Given the description of an element on the screen output the (x, y) to click on. 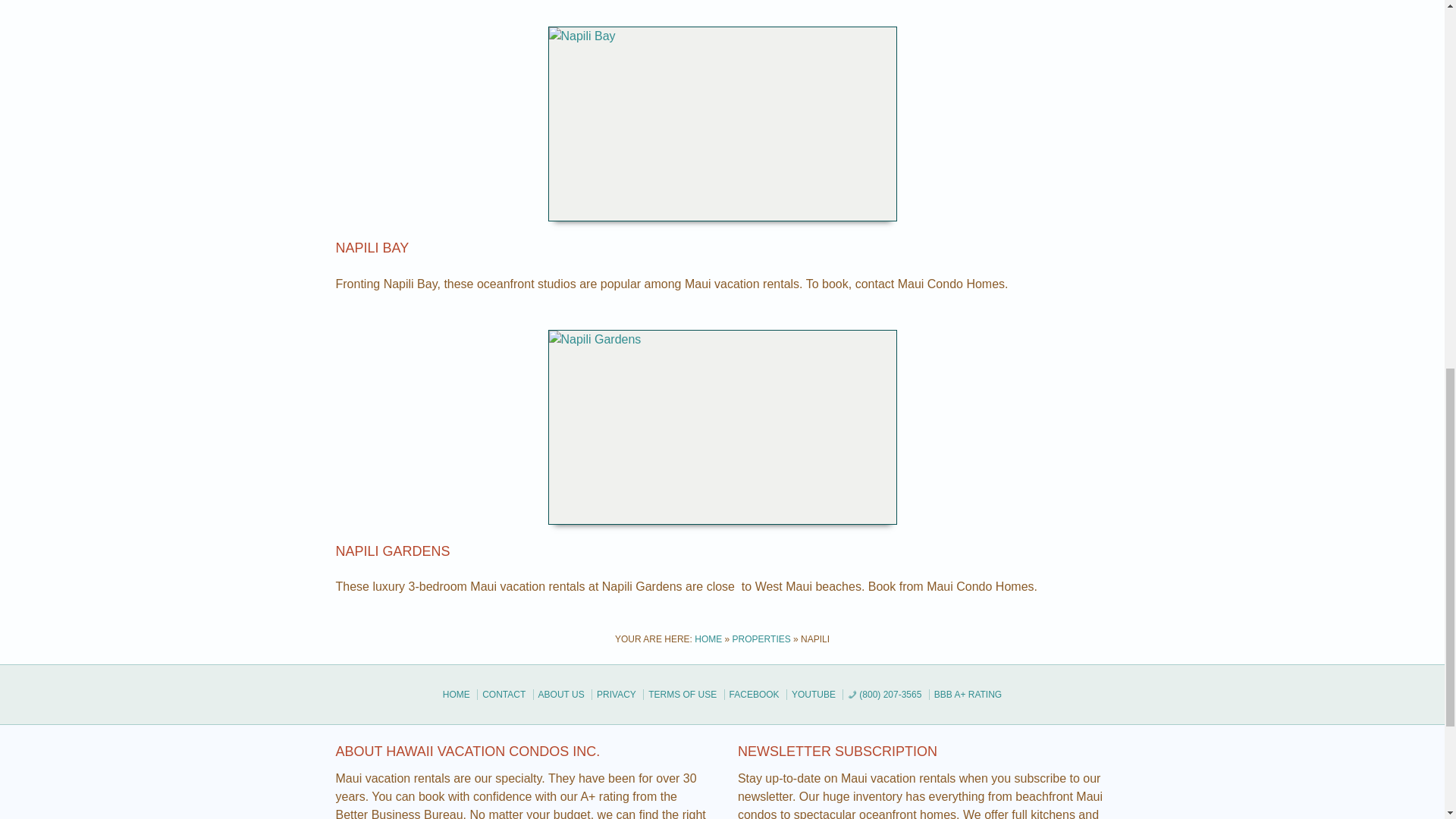
Napili Gardens (391, 550)
Napili Bay (371, 247)
